Given the description of an element on the screen output the (x, y) to click on. 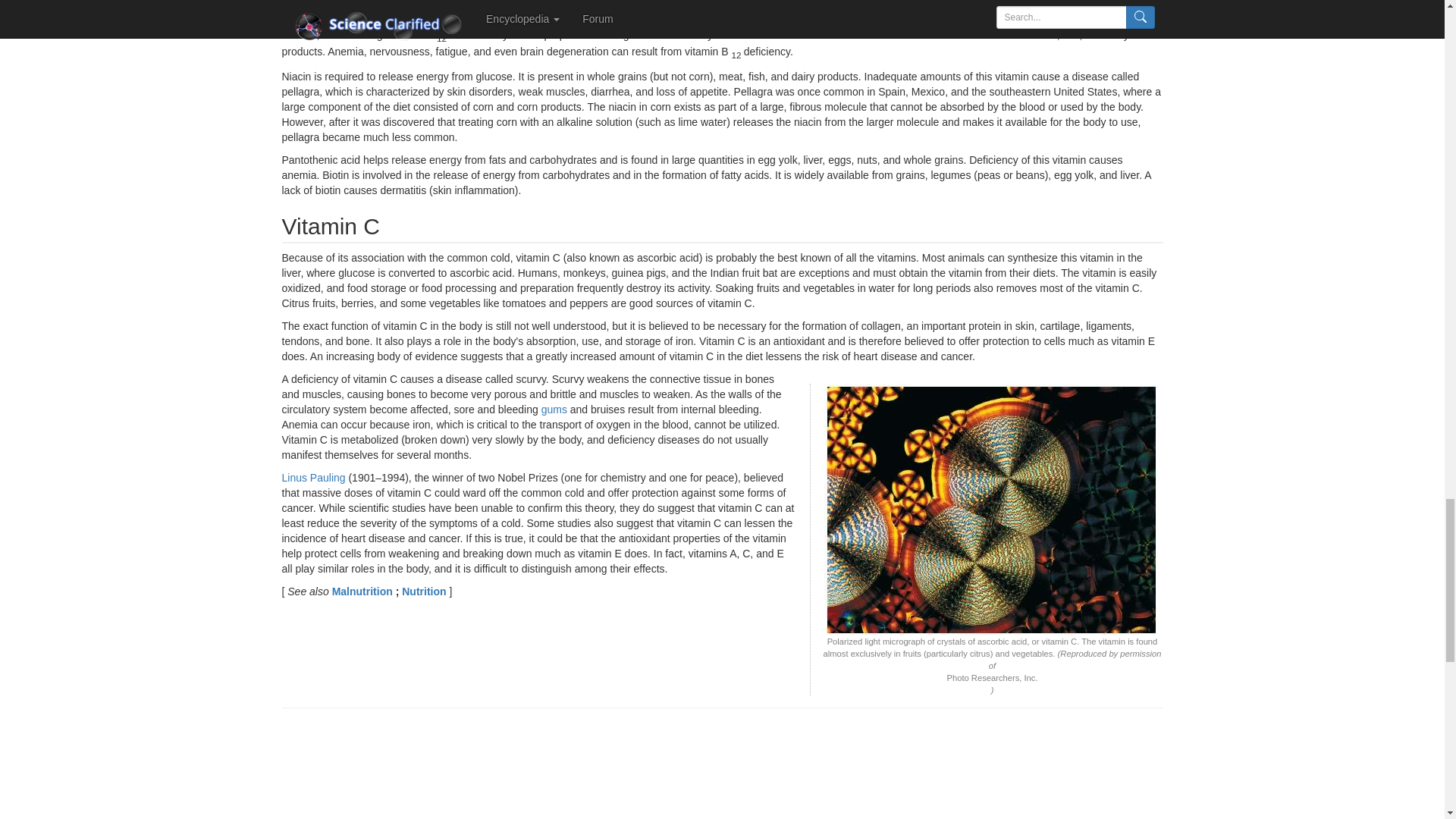
Linus Pauling (314, 477)
View 'linus pauling' definition from Wikipedia (314, 477)
gums (554, 409)
View 'gums' definition from Wikipedia (554, 409)
Nutrition (424, 591)
Malnutrition (363, 591)
